Given the description of an element on the screen output the (x, y) to click on. 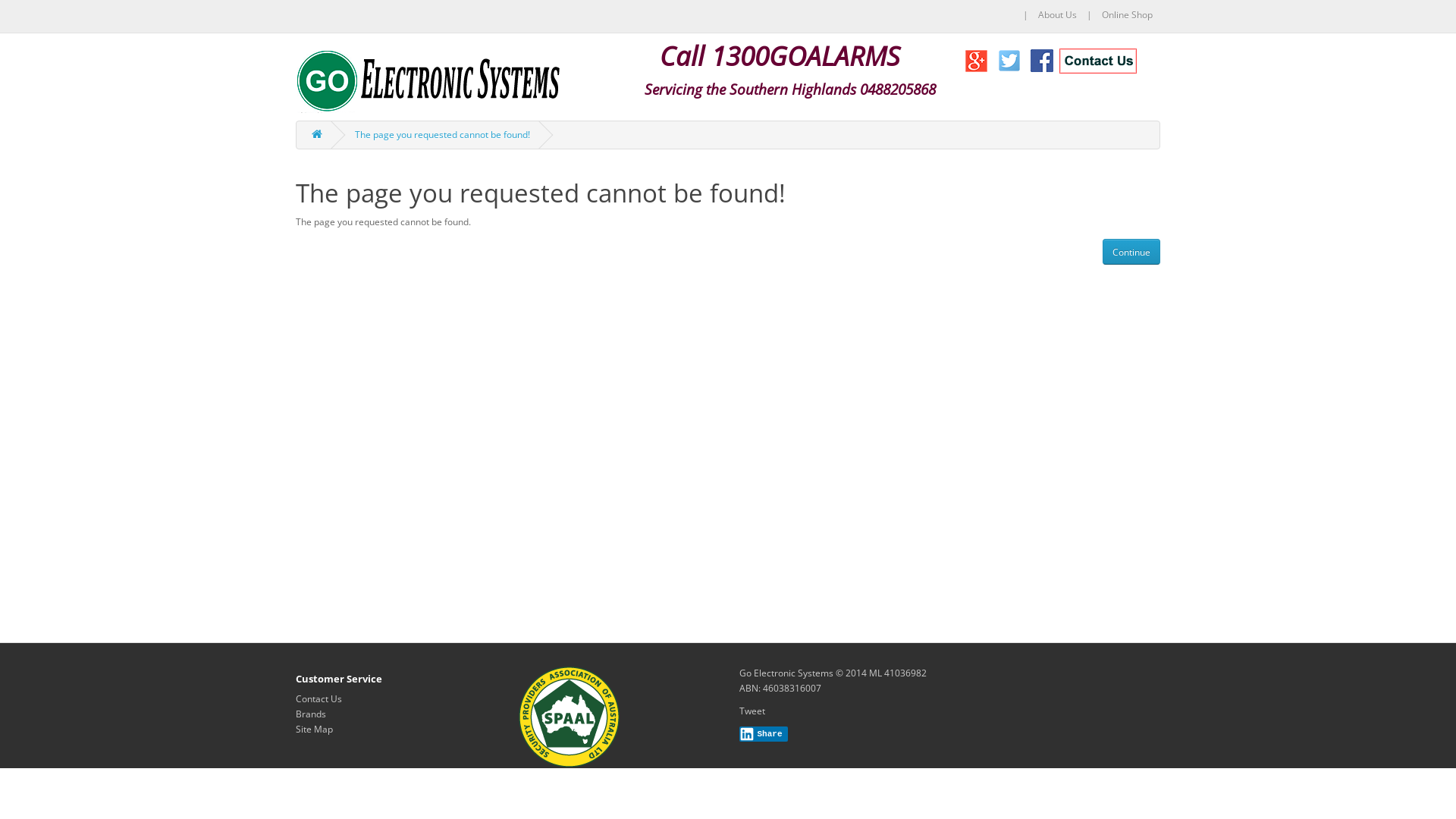
Site Map Element type: text (313, 728)
Tweet Element type: text (752, 710)
Continue Element type: text (1131, 251)
Share Element type: text (763, 733)
The page you requested cannot be found! Element type: text (442, 134)
Online Shop Element type: text (1126, 14)
About Us Element type: text (1057, 14)
Go Electronic Systems Element type: hover (428, 80)
Contact Us Element type: text (318, 698)
Brands Element type: text (310, 713)
